Given the description of an element on the screen output the (x, y) to click on. 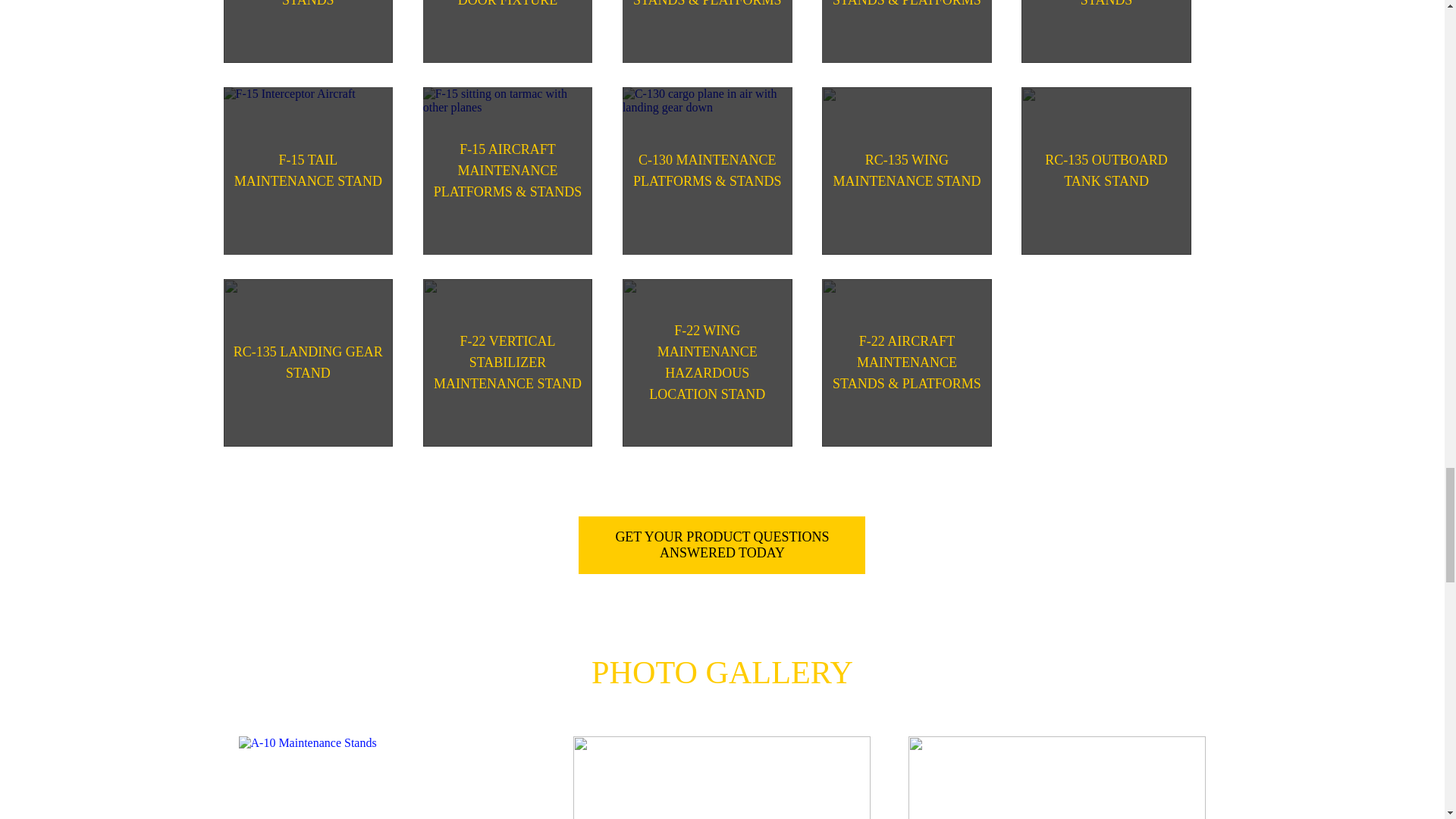
Want More Information? (721, 545)
